Given the description of an element on the screen output the (x, y) to click on. 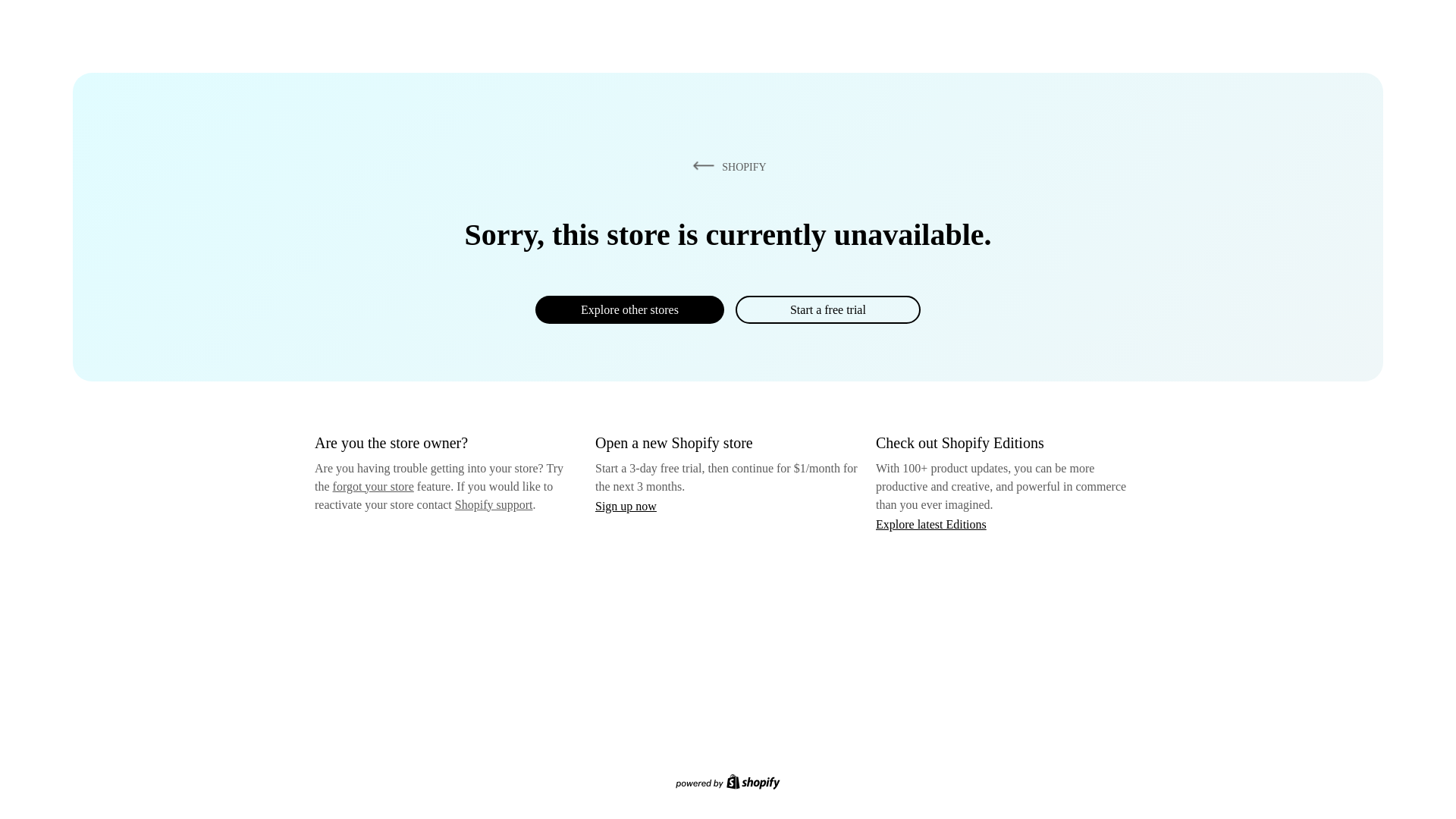
Sign up now (625, 505)
forgot your store (373, 486)
Start a free trial (827, 309)
Explore other stores (629, 309)
SHOPIFY (726, 166)
Explore latest Editions (931, 523)
Shopify support (493, 504)
